Given the description of an element on the screen output the (x, y) to click on. 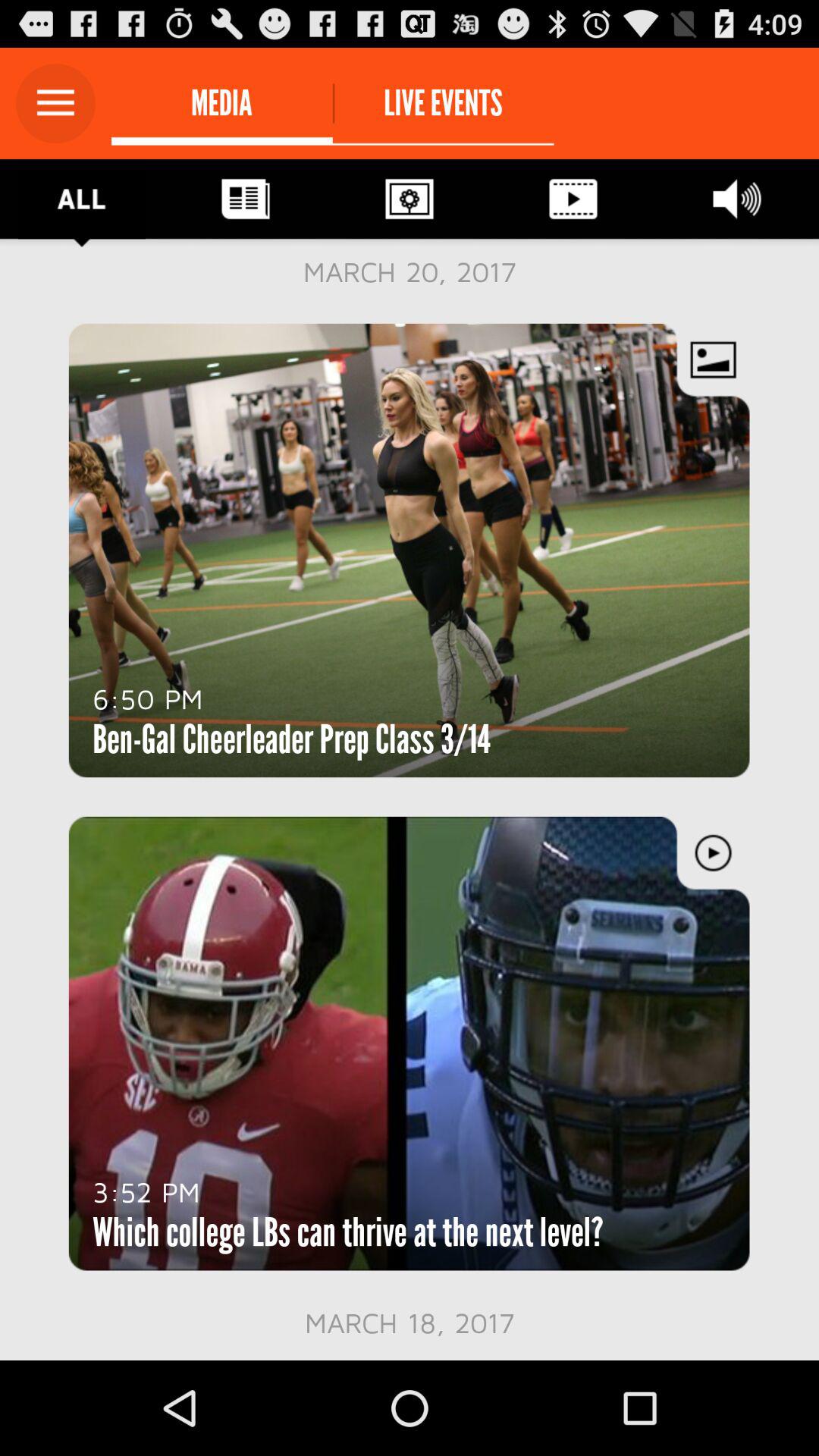
select item to the left of the media icon (55, 103)
